Given the description of an element on the screen output the (x, y) to click on. 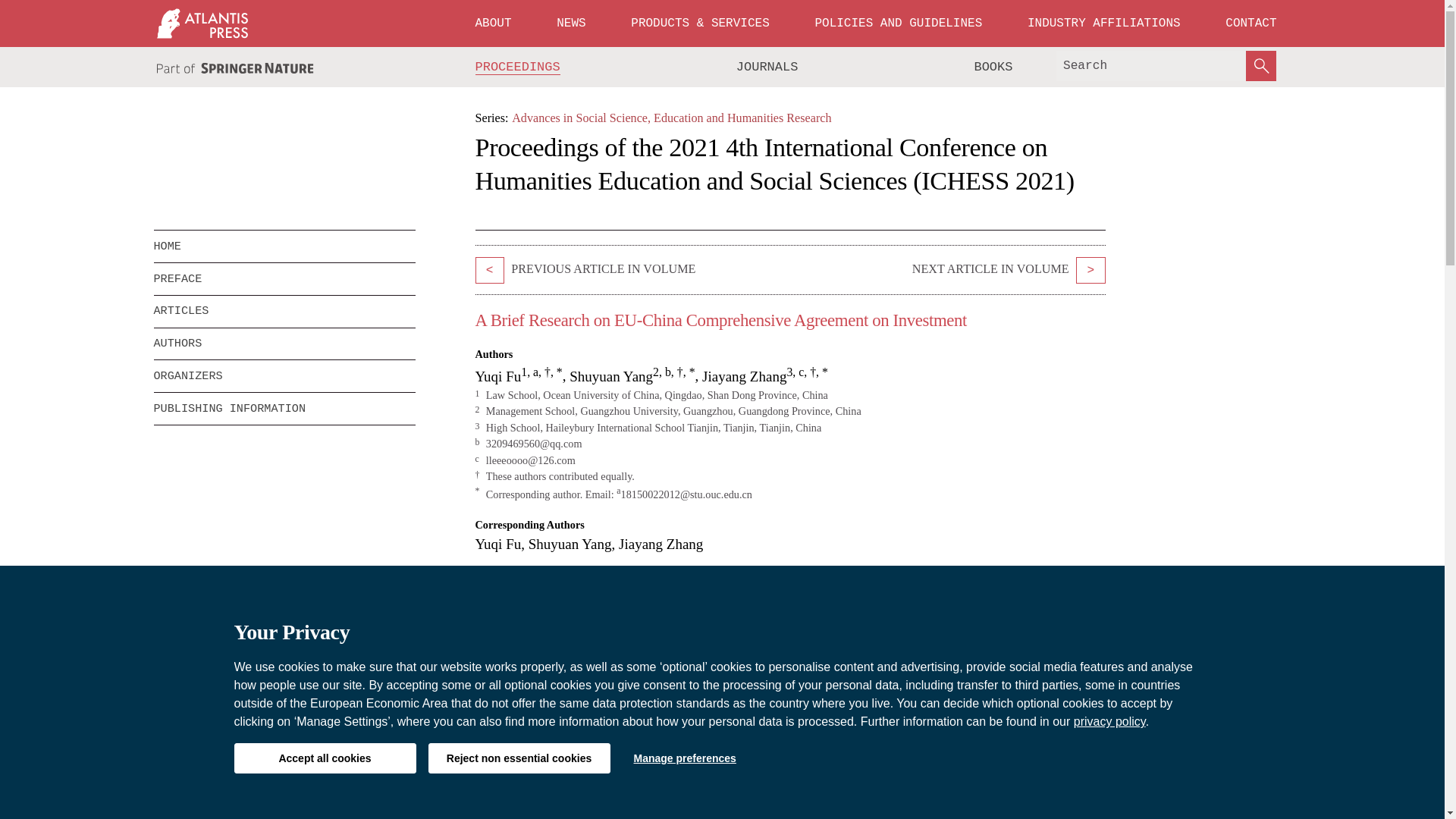
PROCEEDINGS (518, 66)
NEWS (570, 23)
ABOUT (493, 23)
Reject non essential cookies (519, 757)
Atlantis Press (201, 23)
BOOKS (992, 66)
ARTICLES (283, 311)
PREFACE (283, 278)
CONTACT (1250, 23)
POLICIES AND GUIDELINES (897, 23)
INDUSTRY AFFILIATIONS (1104, 23)
privacy policy (1109, 721)
JOURNALS (767, 66)
